Given the description of an element on the screen output the (x, y) to click on. 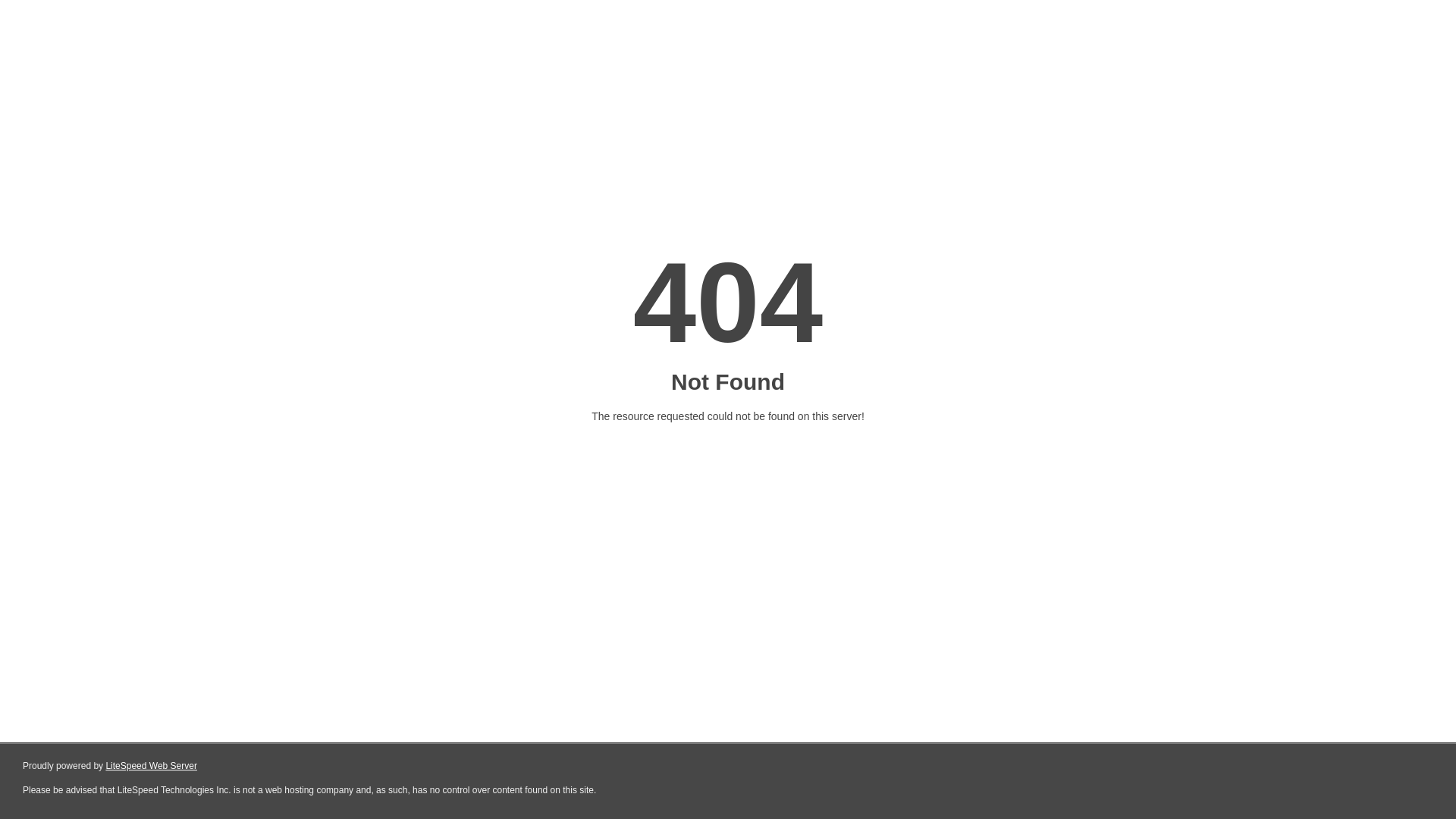
LiteSpeed Web Server Element type: text (151, 765)
